Given the description of an element on the screen output the (x, y) to click on. 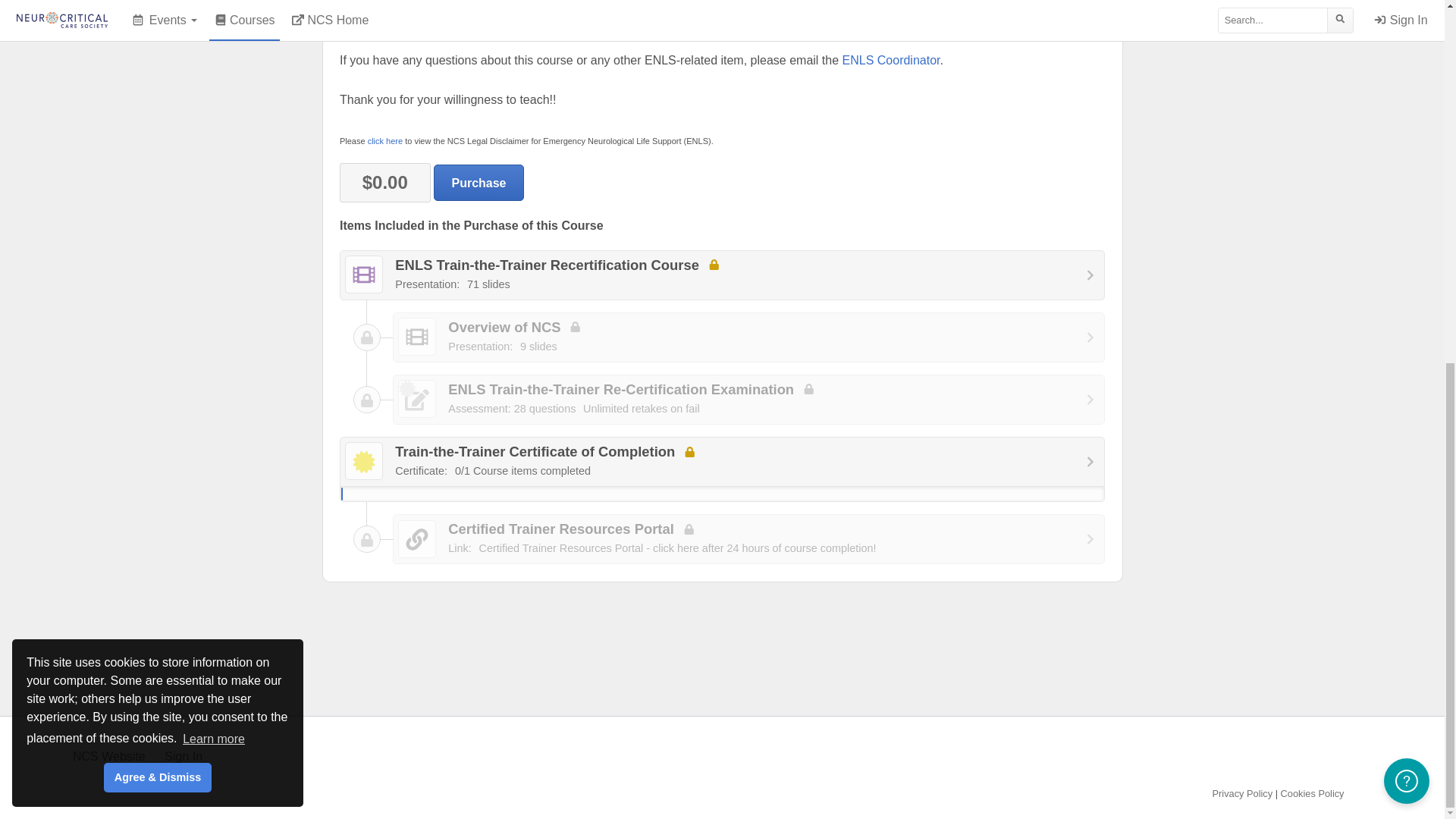
Learn more (213, 89)
NCS Website (108, 756)
Sign In (183, 756)
ENLS Train-the-Trainer Recertification Course (722, 275)
ENLS Coordinator (891, 60)
NCS Website (108, 756)
click here (385, 140)
Cookies Policy (1312, 793)
Purchase (478, 182)
Train-the-Trainer Certificate of Completion (749, 337)
Privacy Policy (722, 469)
